Given the description of an element on the screen output the (x, y) to click on. 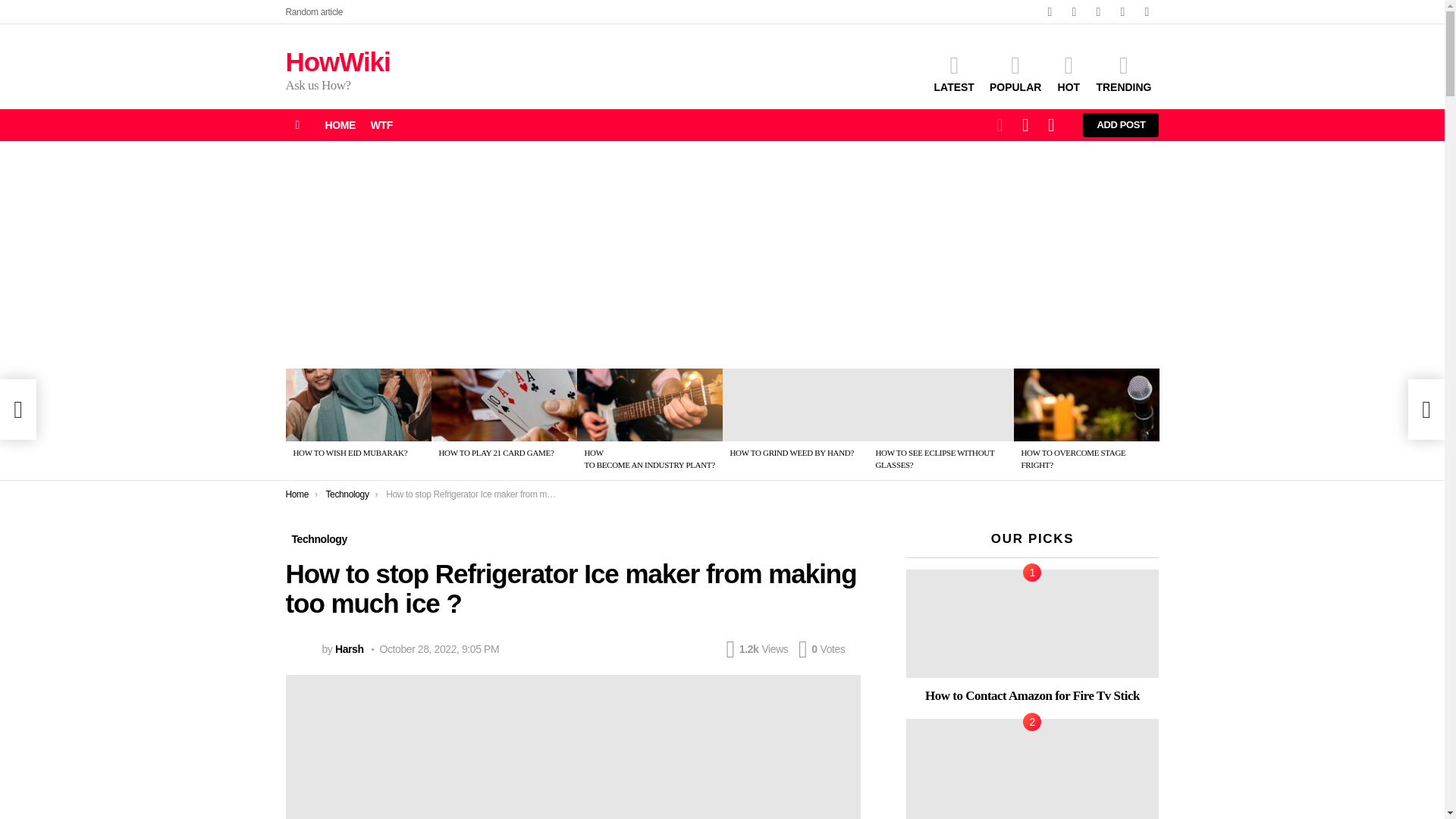
TRENDING (1122, 73)
ADD POST (1120, 125)
Random article (313, 12)
How to See Eclipse Without Glasses? (940, 404)
POPULAR (1014, 73)
instagram (1097, 11)
WTF (381, 124)
LATEST (953, 73)
How to Play 21 Card Game? (503, 404)
